Given the description of an element on the screen output the (x, y) to click on. 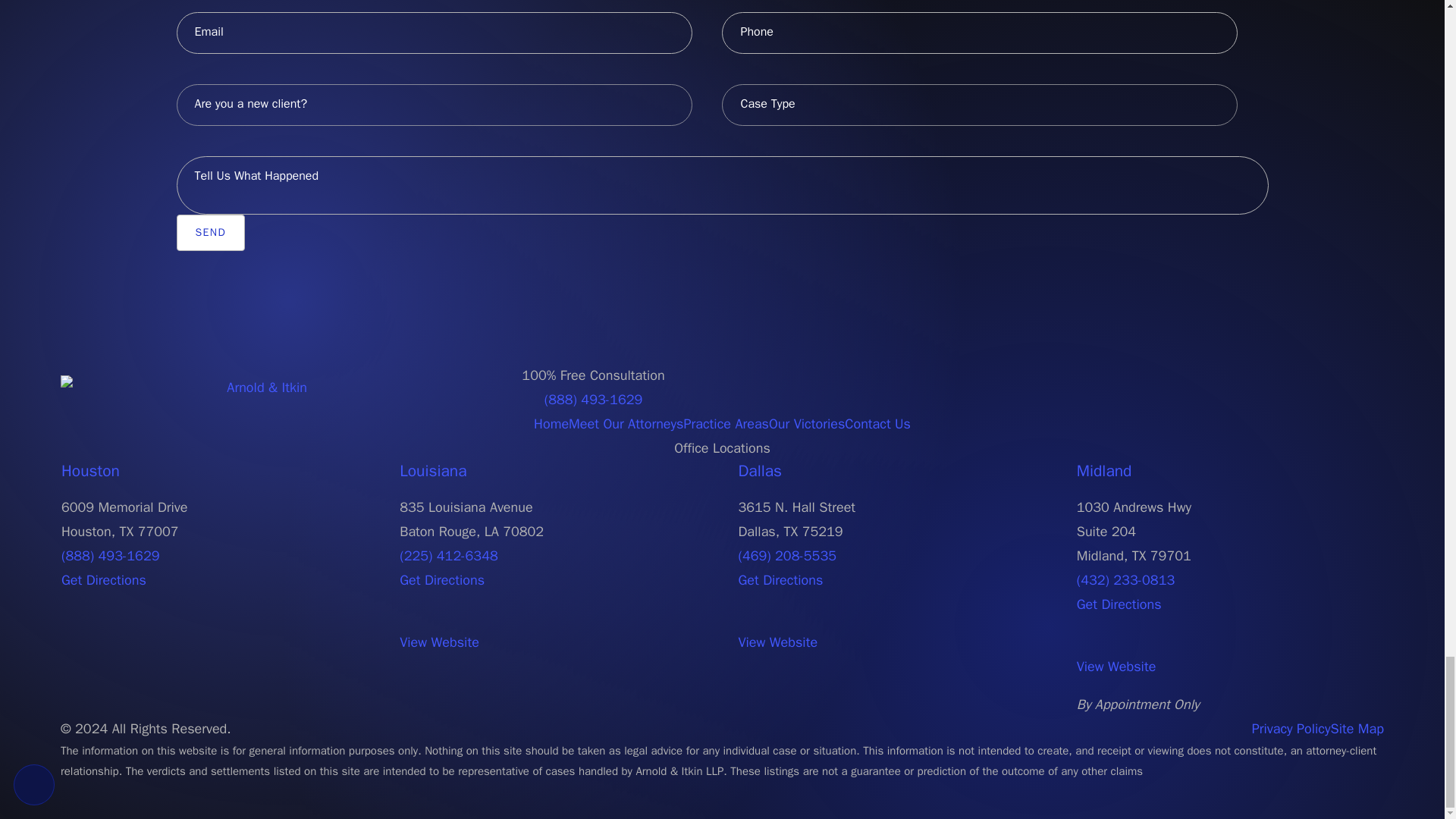
Instagram (1363, 386)
LinkedIn (1377, 386)
Facebook (1322, 386)
YouTube (1349, 386)
Twitter (1335, 386)
